Given the description of an element on the screen output the (x, y) to click on. 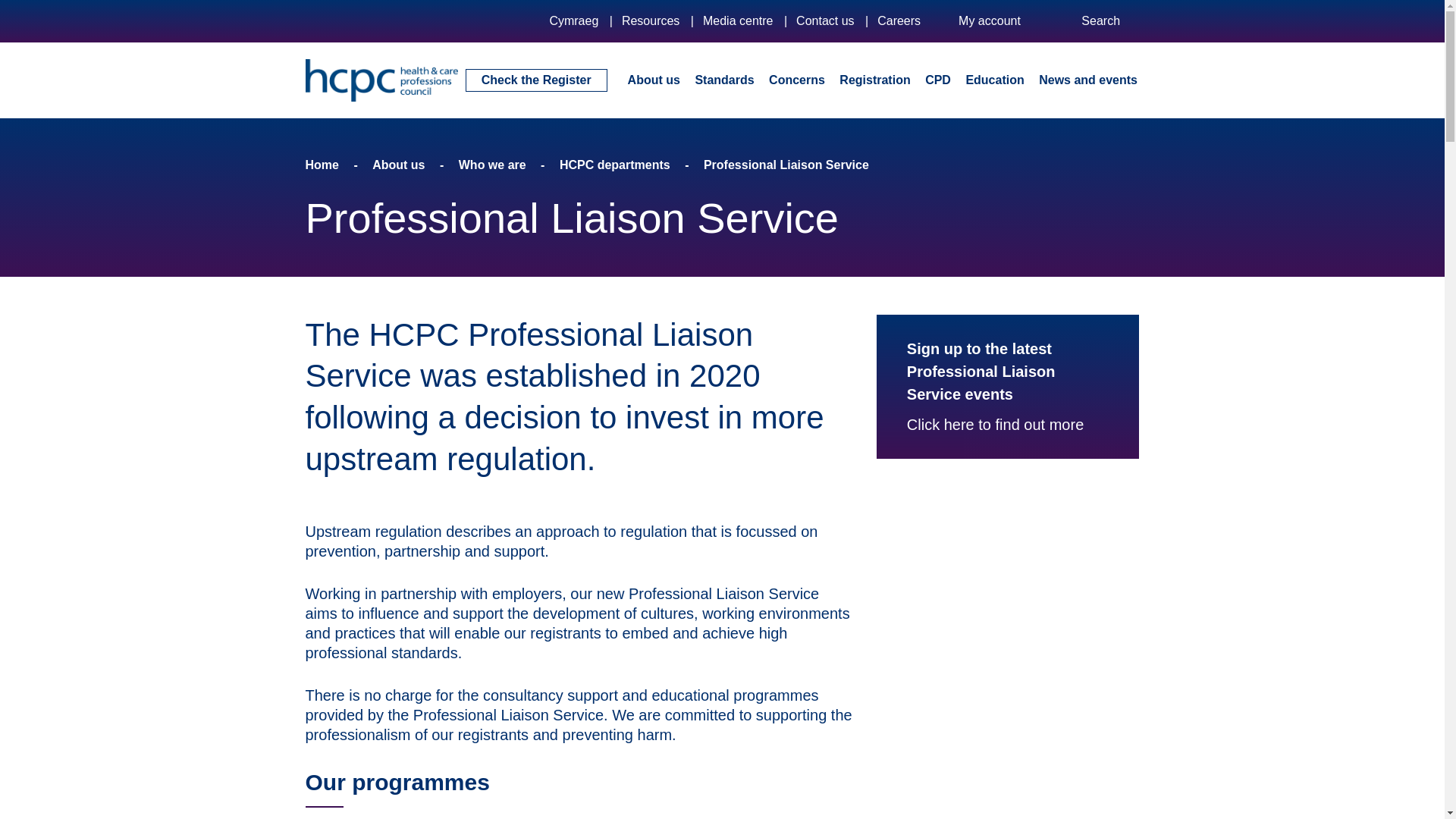
Cymraeg (573, 20)
Contact us (824, 20)
Concerns (797, 79)
Check the Register (536, 79)
Careers (898, 20)
Media centre (738, 20)
Cymraeg (573, 20)
Resources (650, 20)
My account (1000, 21)
Standards (724, 79)
